Given the description of an element on the screen output the (x, y) to click on. 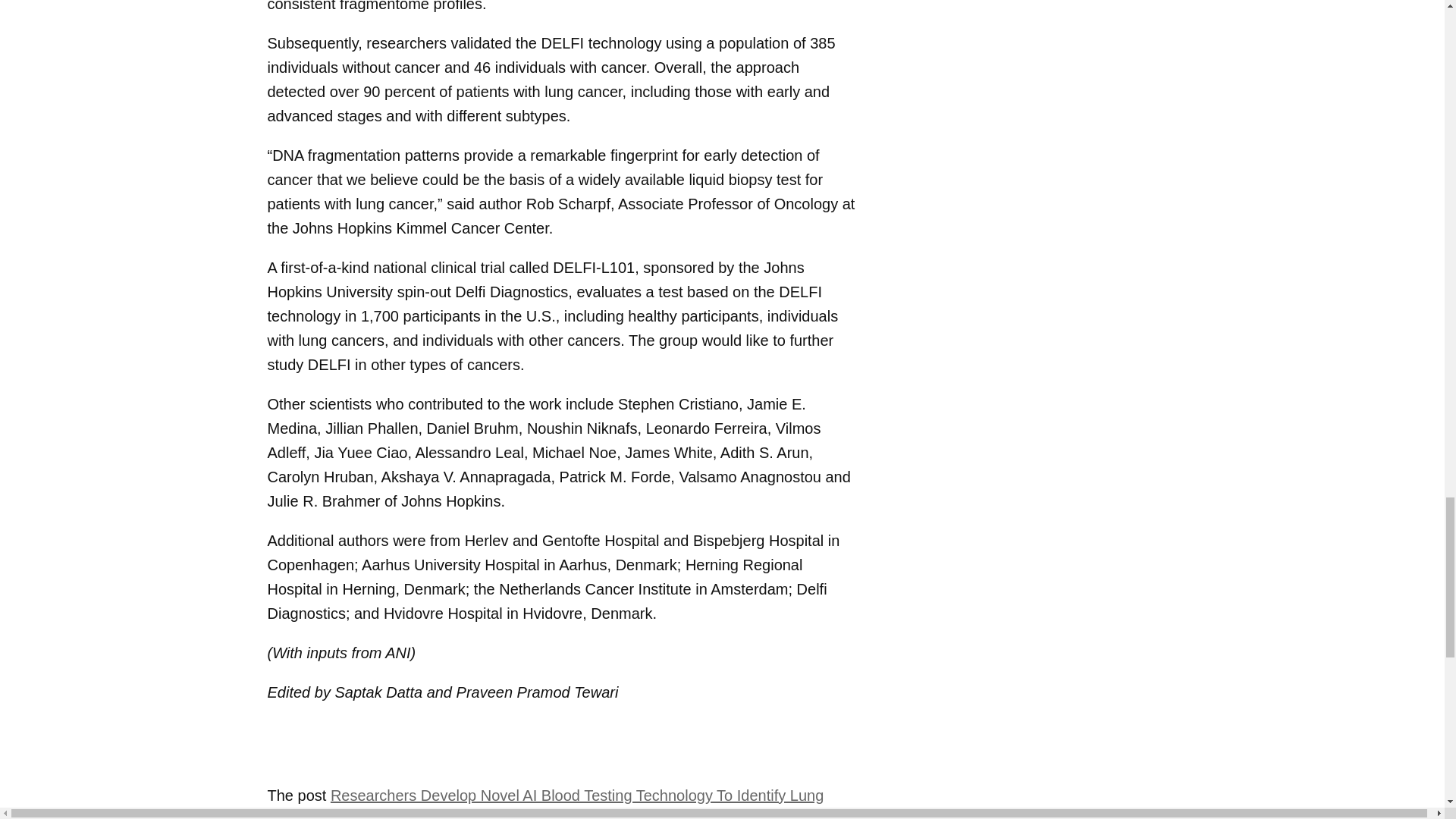
Zenger News (490, 815)
